Given the description of an element on the screen output the (x, y) to click on. 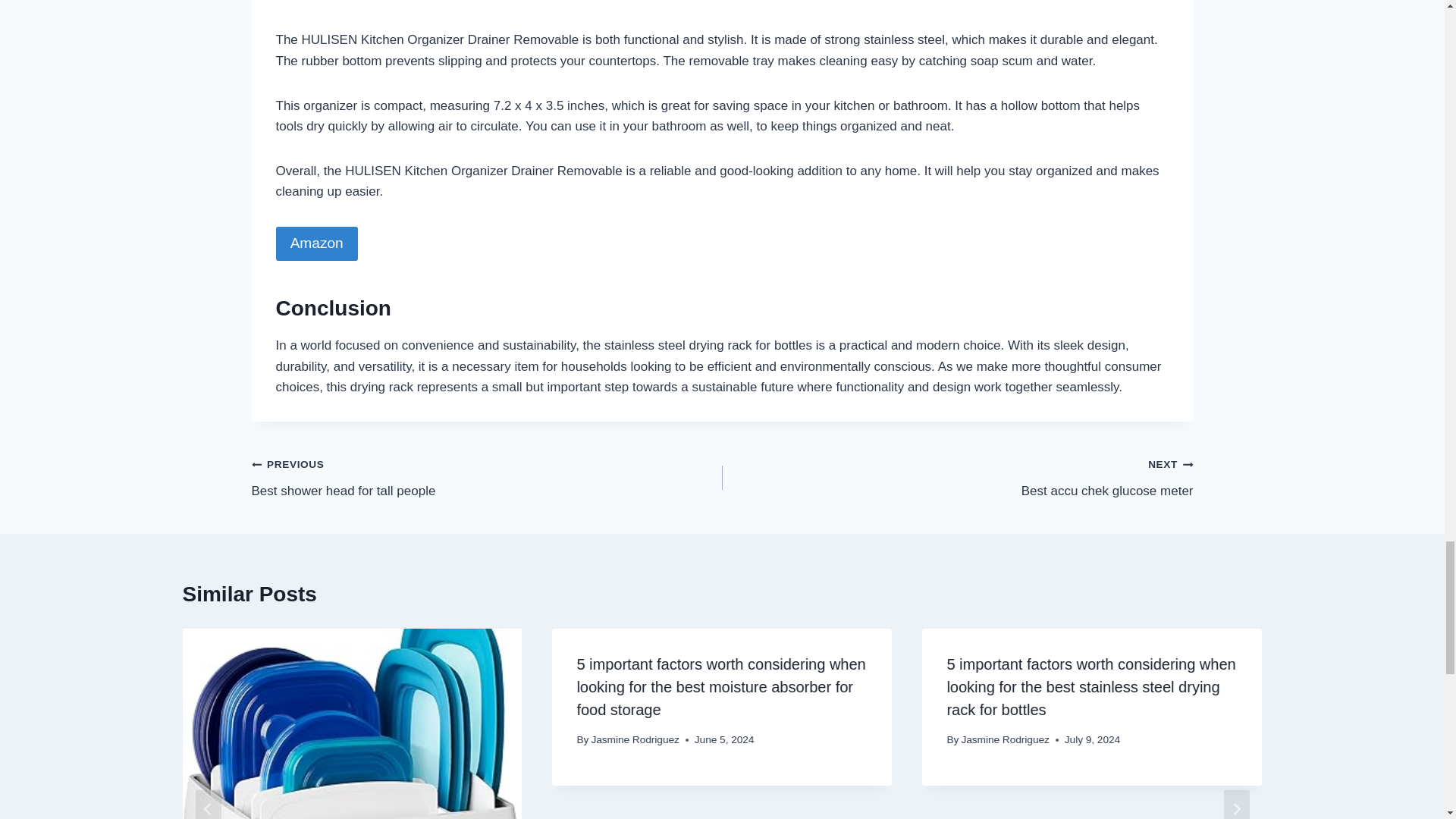
Amazon (486, 477)
